Given the description of an element on the screen output the (x, y) to click on. 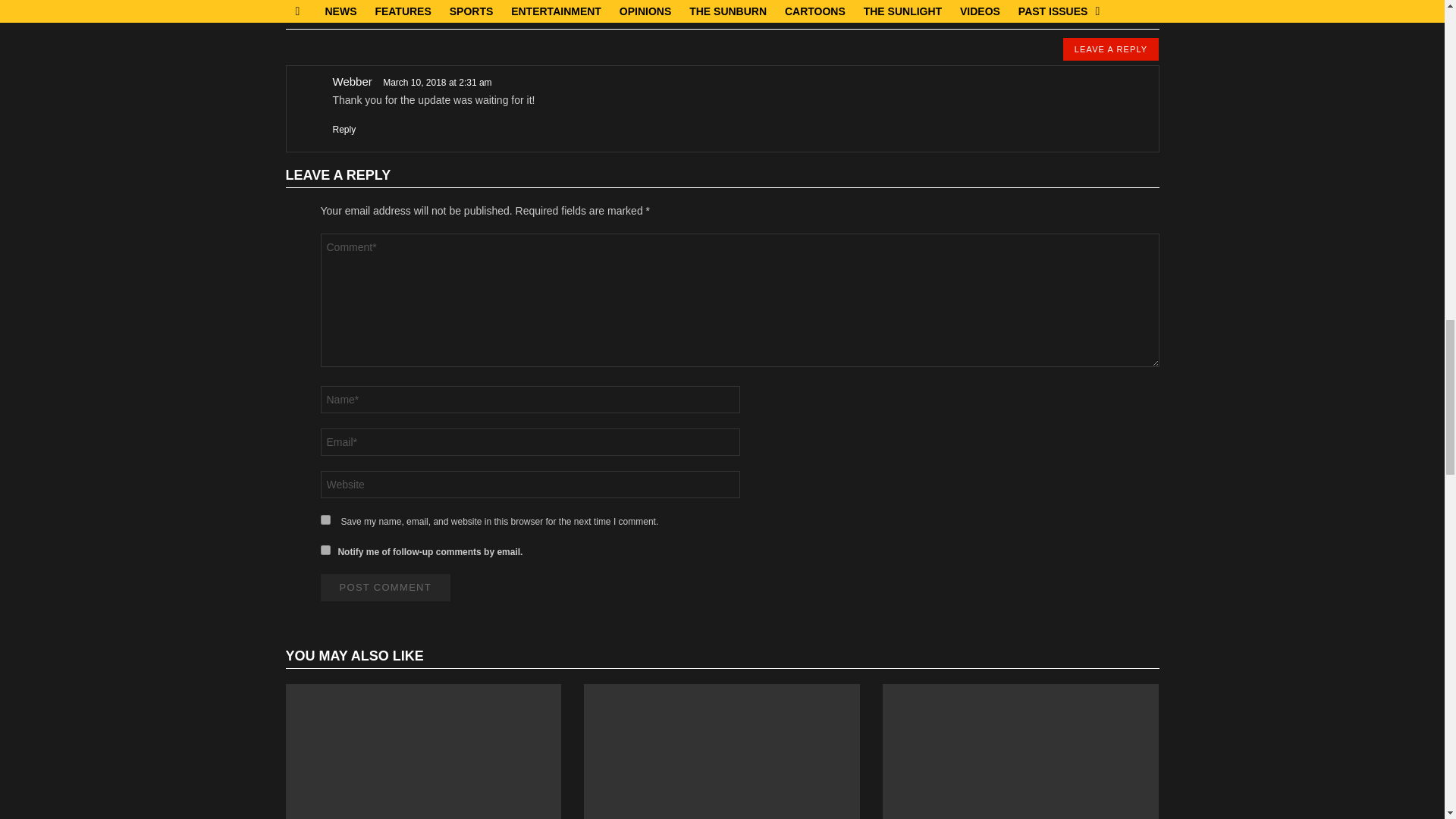
Post Comment (384, 587)
Reply (343, 129)
Webber (351, 81)
yes (325, 519)
subscribe (325, 550)
Post Comment (384, 587)
Last season for the seniors (721, 751)
LEAVE A REPLY (1110, 48)
March 10, 2018 at 2:31 am (437, 81)
